Given the description of an element on the screen output the (x, y) to click on. 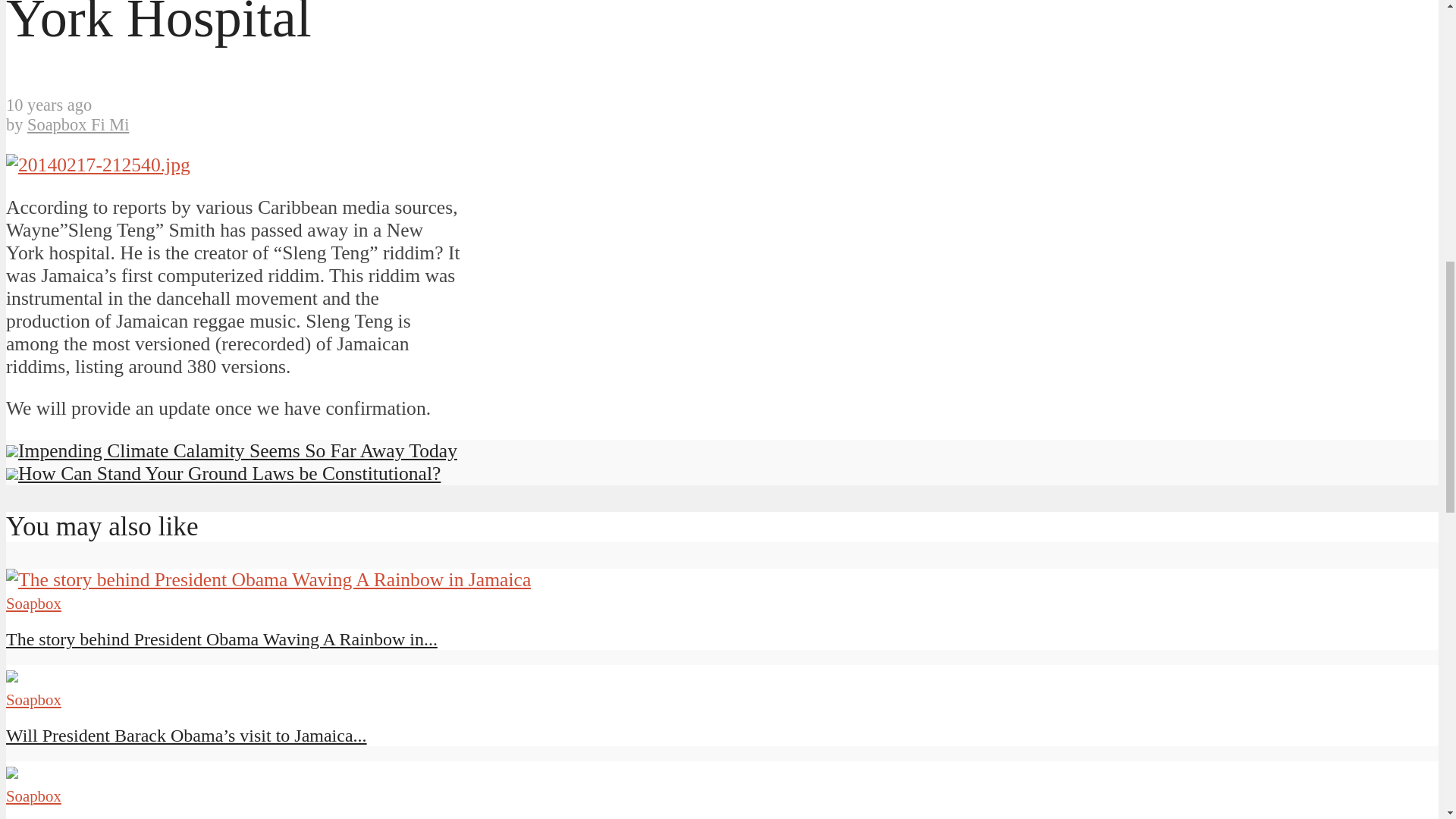
The story behind President Obama Waving A Rainbow in... (221, 639)
Impending Climate Calamity Seems So Far Away Today (231, 450)
Soapbox (33, 602)
Soapbox (33, 699)
How Can Stand Your Ground Laws be Constitutional? (223, 473)
Soapbox Fi Mi (78, 124)
The story behind President Obama Waving A Rainbow in Jamaica (268, 579)
Soapbox (33, 795)
The story behind President Obama Waving A Rainbow in Jamaica (221, 639)
